Given the description of an element on the screen output the (x, y) to click on. 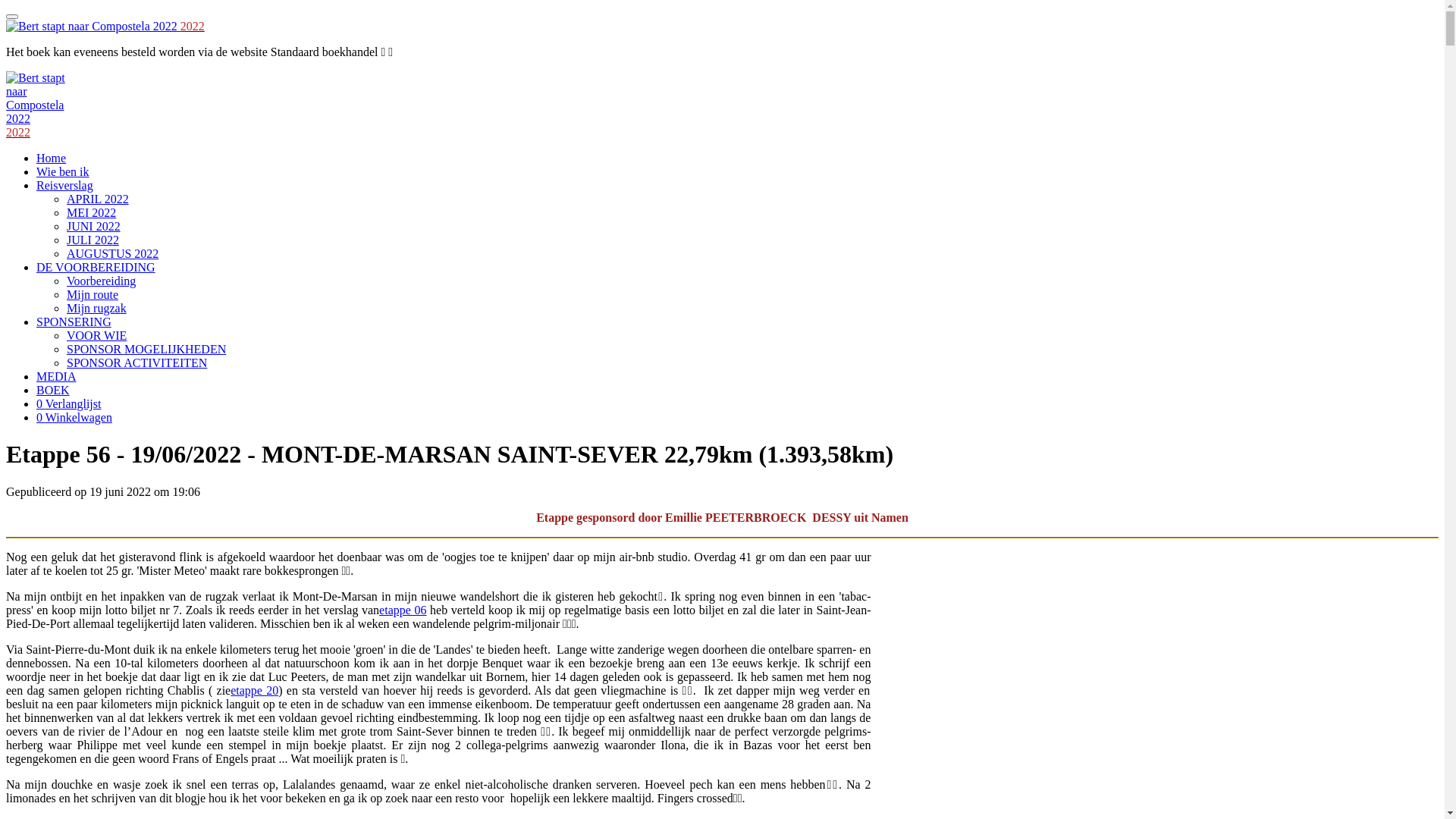
DE VOORBEREIDING Element type: text (95, 266)
Bert stapt naar Compostela 2022 Element type: hover (91, 26)
etappe 20 Element type: text (254, 690)
Reisverslag Element type: text (64, 184)
MEDIA Element type: text (55, 376)
JUNI 2022 Element type: text (93, 225)
AUGUSTUS 2022 Element type: text (112, 253)
Wie ben ik Element type: text (62, 171)
JULI 2022 Element type: text (92, 239)
0 Verlanglijst Element type: text (68, 403)
Home Element type: text (50, 157)
Bert stapt naar Compostela 2022 Element type: hover (43, 98)
BOEK Element type: text (52, 389)
0 Winkelwagen Element type: text (74, 417)
etappe 06 Element type: text (402, 609)
2022 Element type: text (105, 25)
SPONSERING Element type: text (73, 321)
SPONSOR ACTIVITEITEN Element type: text (136, 362)
VOOR WIE Element type: text (96, 335)
Mijn rugzak Element type: text (96, 307)
SPONSOR MOGELIJKHEDEN Element type: text (145, 348)
2022 Element type: text (18, 131)
Voorbereiding Element type: text (100, 280)
Mijn route Element type: text (92, 294)
APRIL 2022 Element type: text (97, 198)
MEI 2022 Element type: text (91, 212)
